Given the description of an element on the screen output the (x, y) to click on. 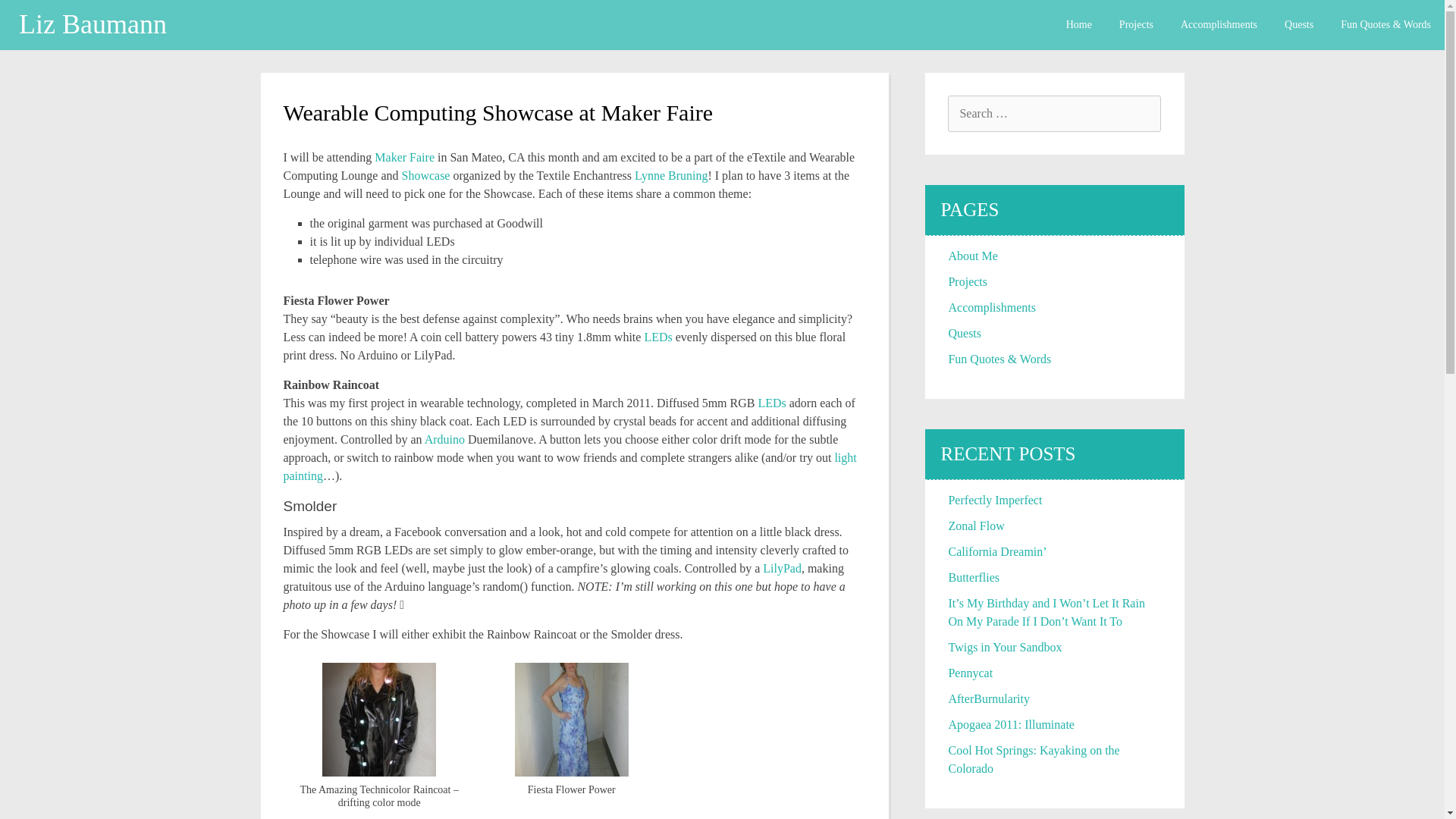
Liz Baumann (100, 24)
light painting (570, 466)
Search (26, 12)
Accomplishments (991, 307)
Perfectly Imperfect (994, 499)
Quests (1298, 24)
Liz Baumann (100, 24)
LEDs (657, 336)
Lynne Bruning (670, 174)
Butterflies (972, 576)
Zonal Flow (975, 525)
LEDs (771, 402)
Accomplishments (1219, 24)
About Me (972, 255)
Arduino (444, 439)
